Given the description of an element on the screen output the (x, y) to click on. 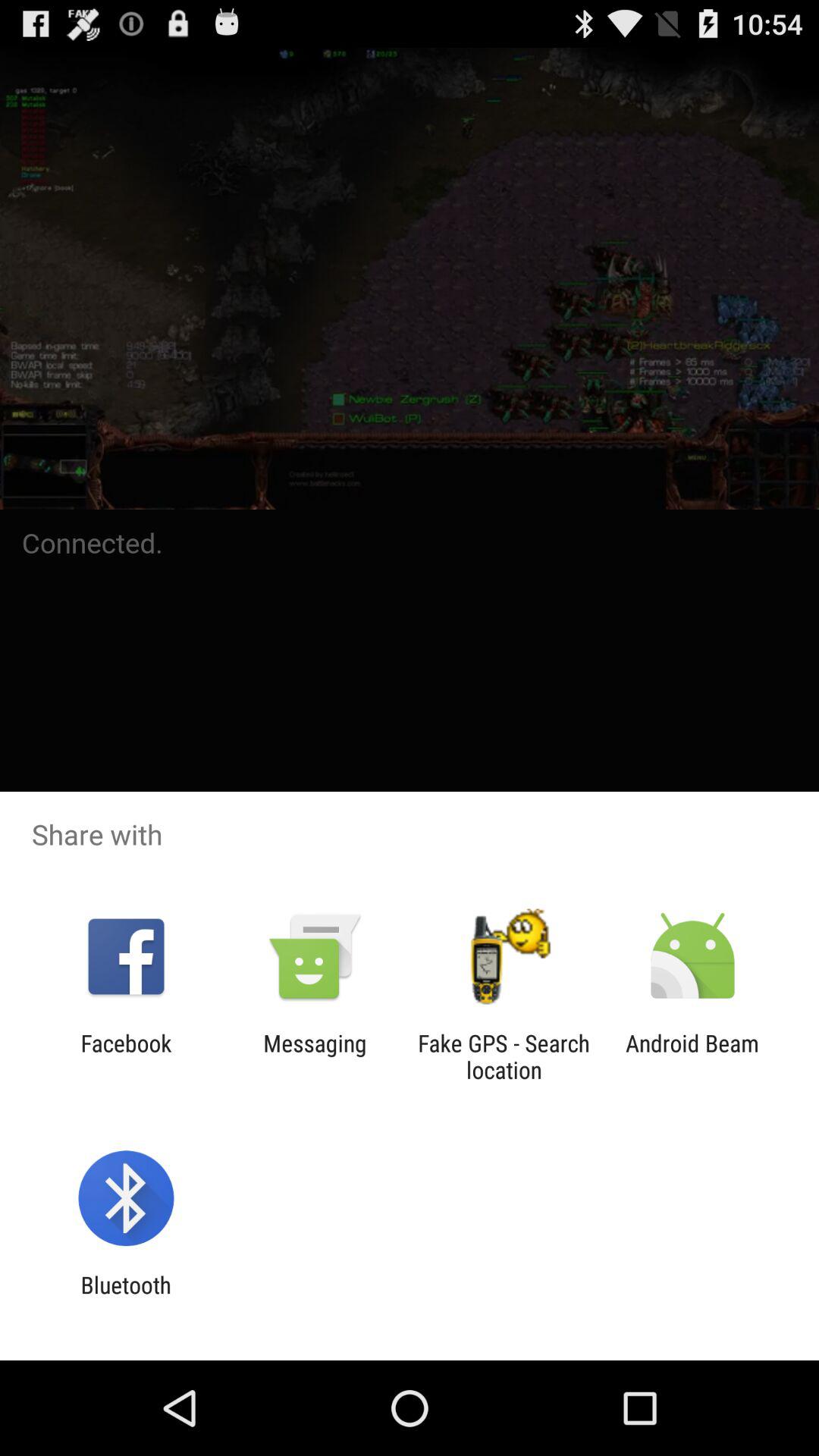
turn on android beam app (692, 1056)
